Given the description of an element on the screen output the (x, y) to click on. 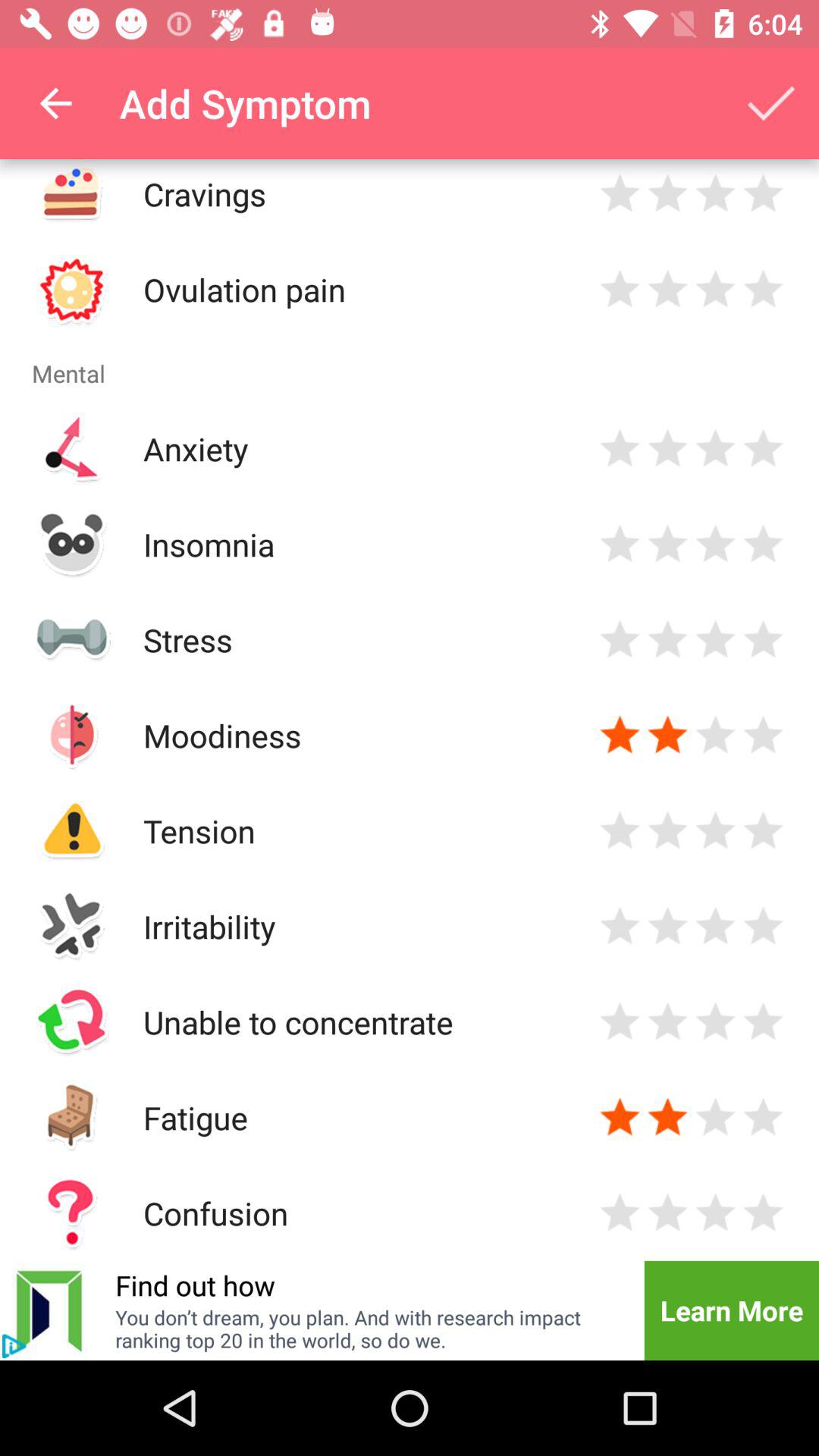
launch icon to the right of you don t (731, 1310)
